Given the description of an element on the screen output the (x, y) to click on. 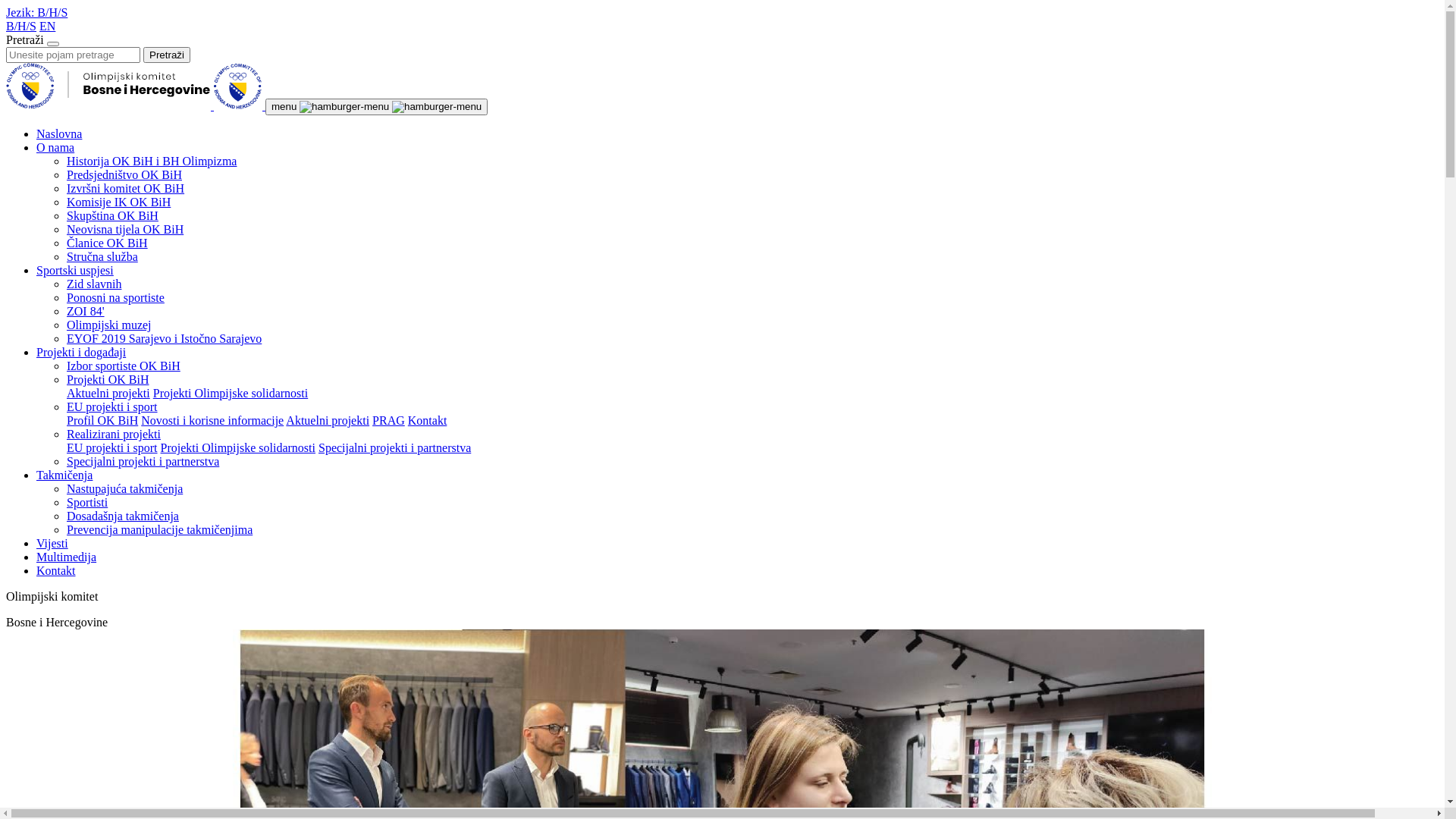
Jezik: B/H/S Element type: text (36, 12)
Neovisna tijela OK BiH Element type: text (124, 228)
Multimedija Element type: text (66, 556)
Sportisti Element type: text (86, 501)
EN Element type: text (47, 25)
Zid slavnih Element type: text (93, 283)
Projekti Olimpijske solidarnosti Element type: text (237, 447)
Vijesti Element type: text (52, 542)
Olimpijski muzej Element type: text (108, 324)
EU projekti i sport Element type: text (111, 406)
Izbor sportiste OK BiH Element type: text (123, 365)
Naslovna Element type: text (58, 133)
Kontakt Element type: text (55, 570)
PRAG Element type: text (388, 420)
Aktuelni projekti Element type: text (108, 392)
Projekti OK BiH Element type: text (107, 379)
Kontakt Element type: text (427, 420)
O nama Element type: text (55, 147)
Specijalni projekti i partnerstva Element type: text (394, 447)
Komisije IK OK BiH Element type: text (118, 201)
Sportski uspjesi Element type: text (74, 269)
B/H/S Element type: text (21, 25)
ZOI 84' Element type: text (85, 310)
Historija OK BiH i BH Olimpizma Element type: text (151, 160)
Profil OK BiH Element type: text (102, 420)
Aktuelni projekti Element type: text (327, 420)
Novosti i korisne informacije Element type: text (212, 420)
Realizirani projekti Element type: text (113, 433)
Specijalni projekti i partnerstva Element type: text (142, 461)
Projekti Olimpijske solidarnosti Element type: text (230, 392)
Ponosni na sportiste Element type: text (115, 297)
EU projekti i sport Element type: text (111, 447)
menu Element type: text (376, 106)
